Given the description of an element on the screen output the (x, y) to click on. 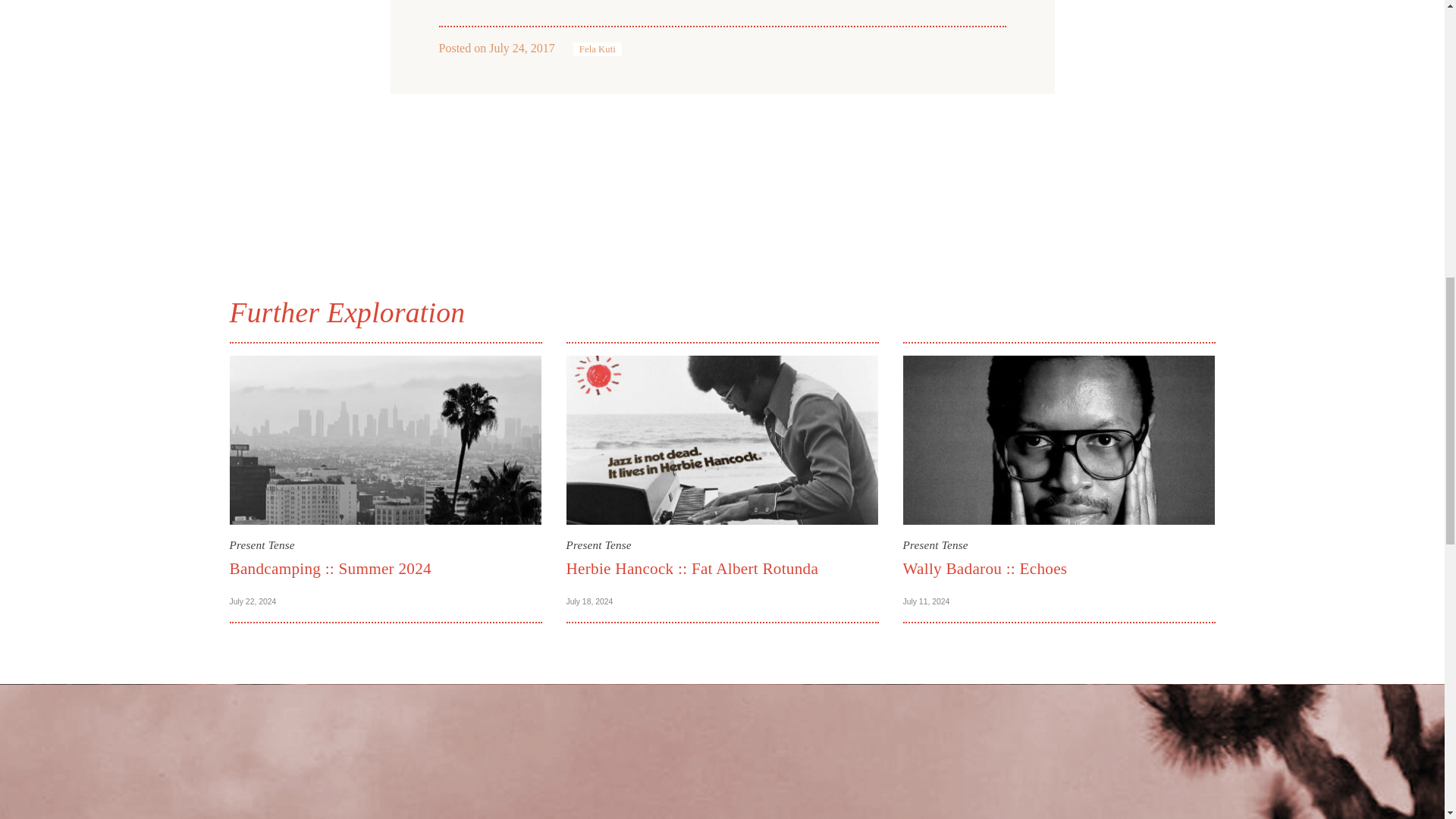
Herbie Hancock :: Fat Albert Rotunda (692, 568)
Wally Badarou :: Echoes (984, 568)
July 24, 2017 (521, 47)
3rd party ad content (721, 176)
Fela Kuti (597, 49)
Bandcamping :: Summer 2024 (329, 568)
